Given the description of an element on the screen output the (x, y) to click on. 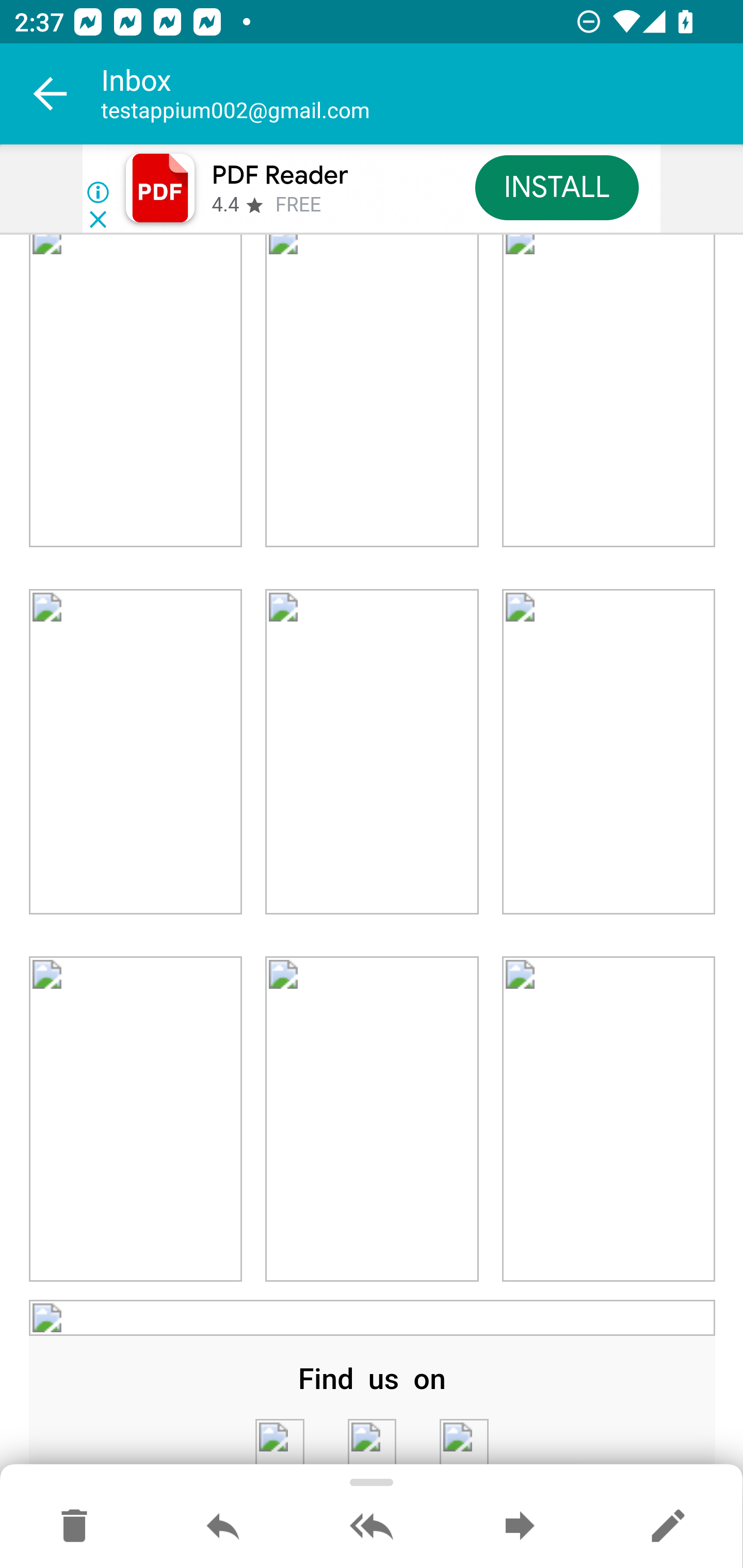
Navigate up (50, 93)
Inbox testappium002@gmail.com (422, 93)
INSTALL (556, 187)
PDF Reader (279, 175)
4.4 (224, 204)
FREE (298, 204)
mbs_landing_goods (135, 391)
mbs_landing_goods (371, 391)
mbs_landing_goods (608, 391)
mbs_landing_goods (135, 752)
mbs_landing_goods (371, 752)
mbs_landing_goods (608, 752)
mbs_landing_goods (135, 1118)
mbs_landing_goods (371, 1118)
mbs_landing_goods (608, 1118)
data: (372, 1318)
data: (279, 1444)
data: (371, 1444)
data: (463, 1444)
Move to Deleted (74, 1527)
Reply (222, 1527)
Reply all (371, 1527)
Forward (519, 1527)
Reply as new (667, 1527)
